Given the description of an element on the screen output the (x, y) to click on. 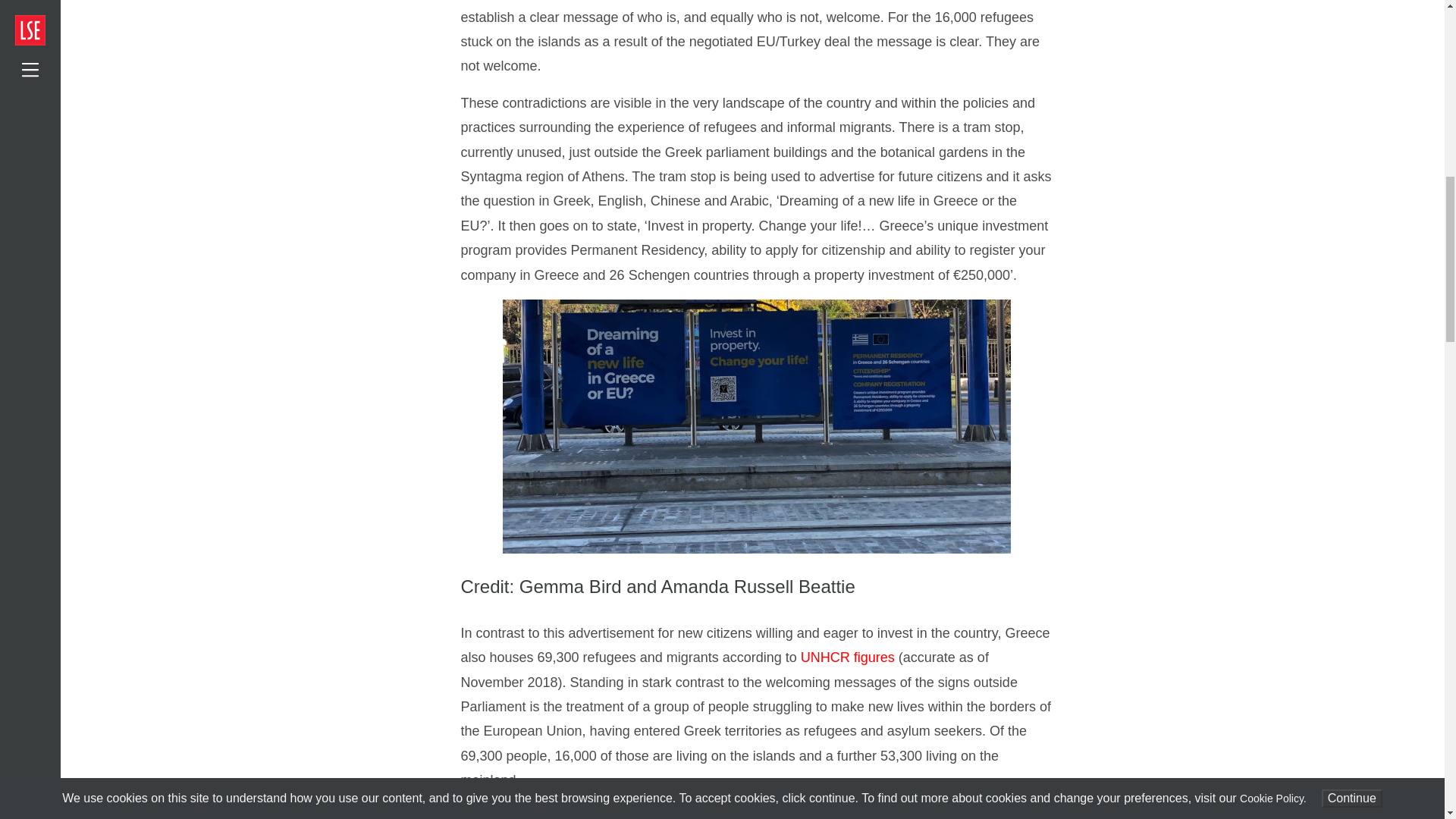
UNHCR figures (847, 657)
